Given the description of an element on the screen output the (x, y) to click on. 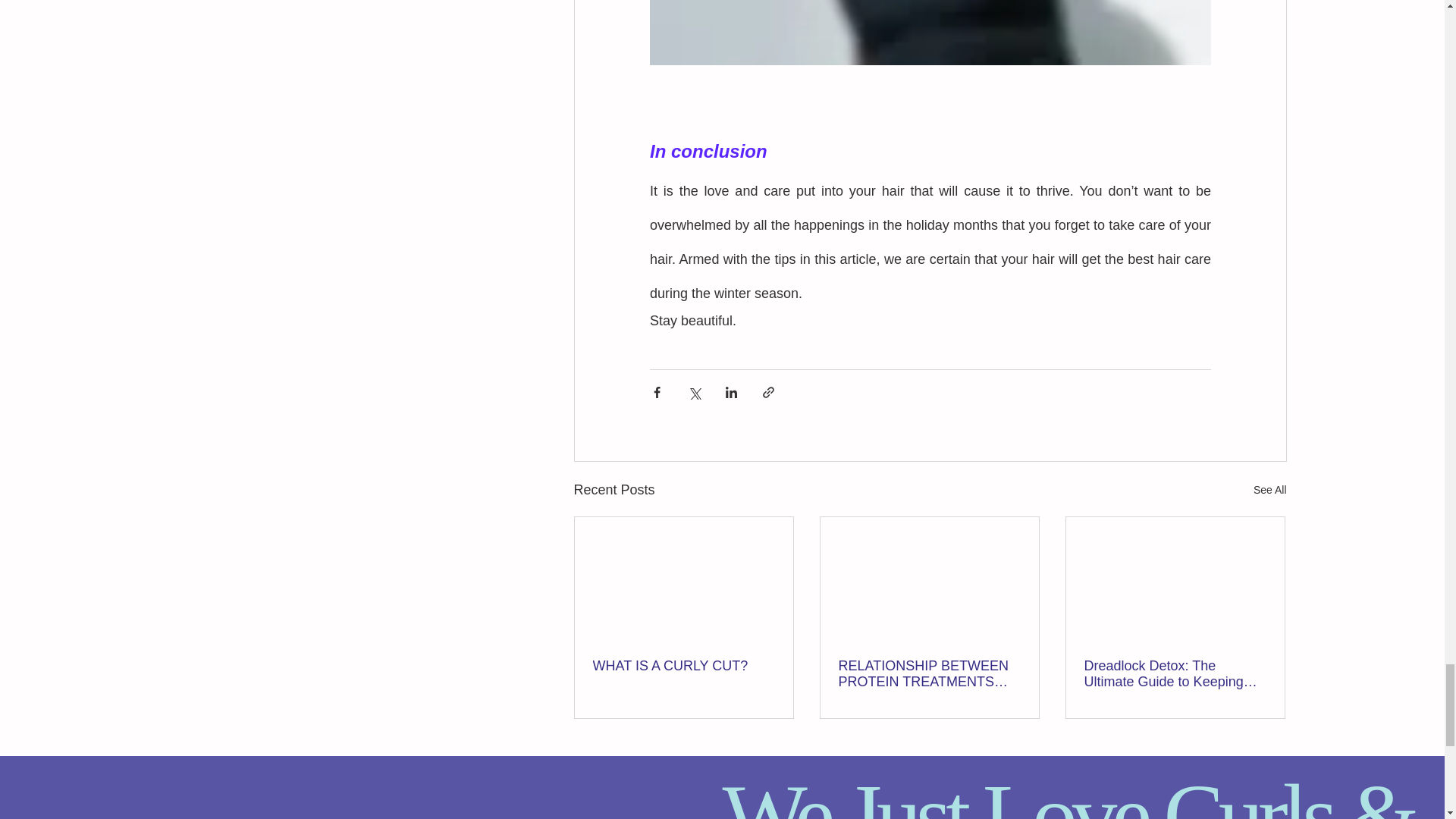
RELATIONSHIP BETWEEN PROTEIN TREATMENTS AND CURL DEFINITION (929, 674)
WHAT IS A CURLY CUT? (683, 666)
See All (1270, 490)
